Given the description of an element on the screen output the (x, y) to click on. 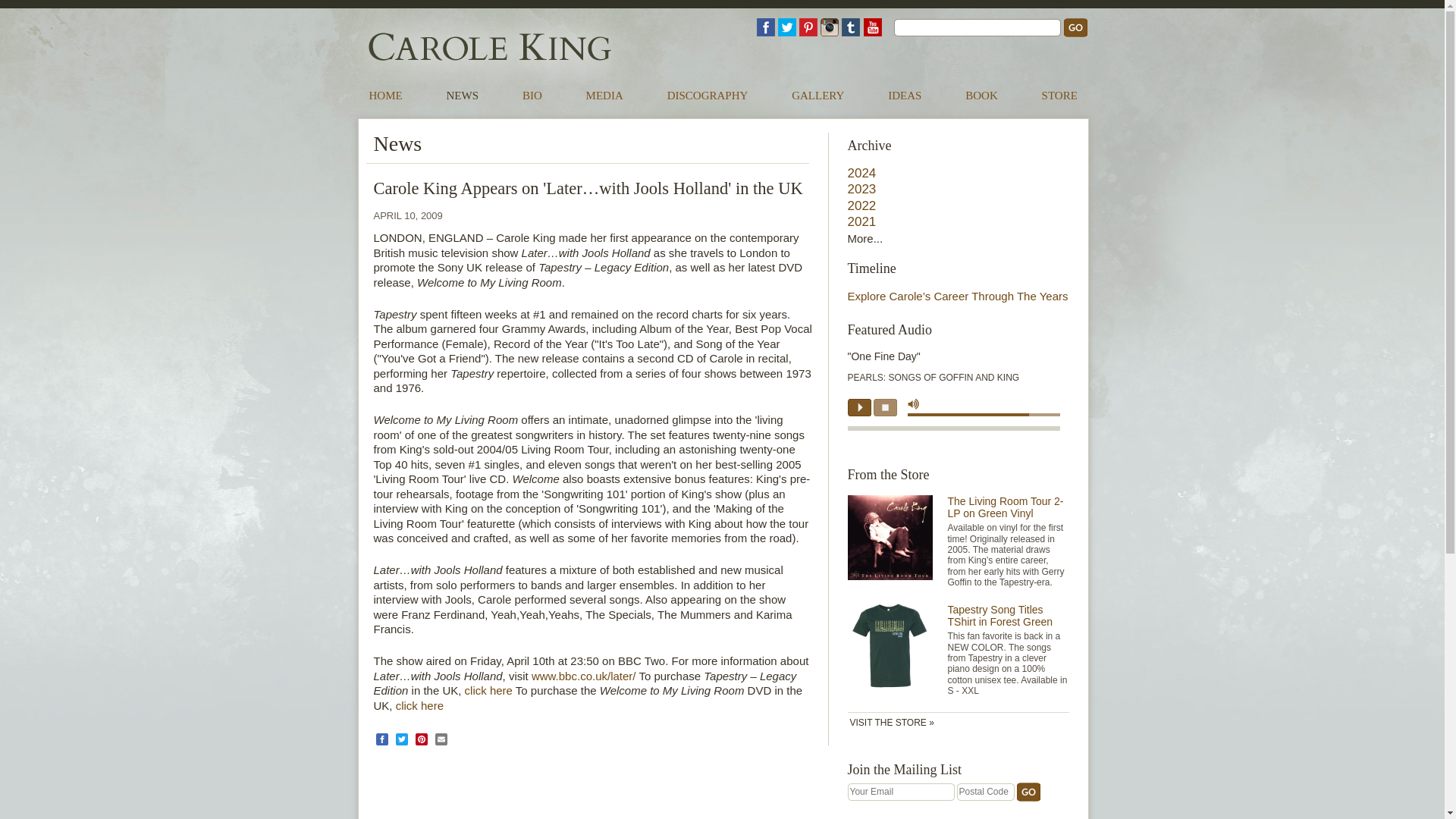
Pinterest (807, 27)
Tumblr (850, 27)
2023 (861, 188)
Go (1027, 791)
Instagram (829, 27)
BOOK (981, 95)
YouTube (871, 27)
2022 (861, 205)
NEWS (462, 95)
MEDIA (604, 95)
